Given the description of an element on the screen output the (x, y) to click on. 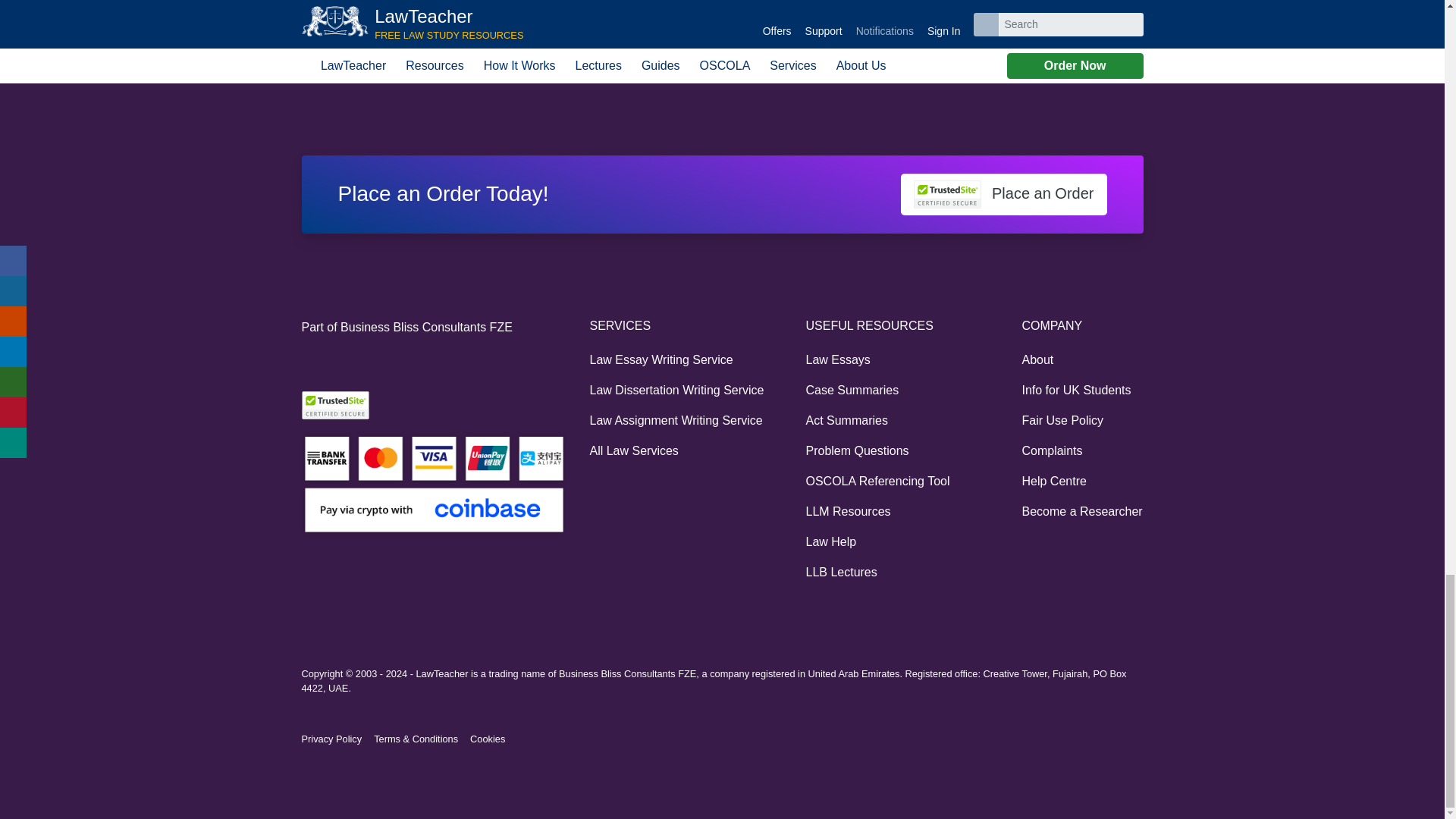
homepage link (309, 66)
